Given the description of an element on the screen output the (x, y) to click on. 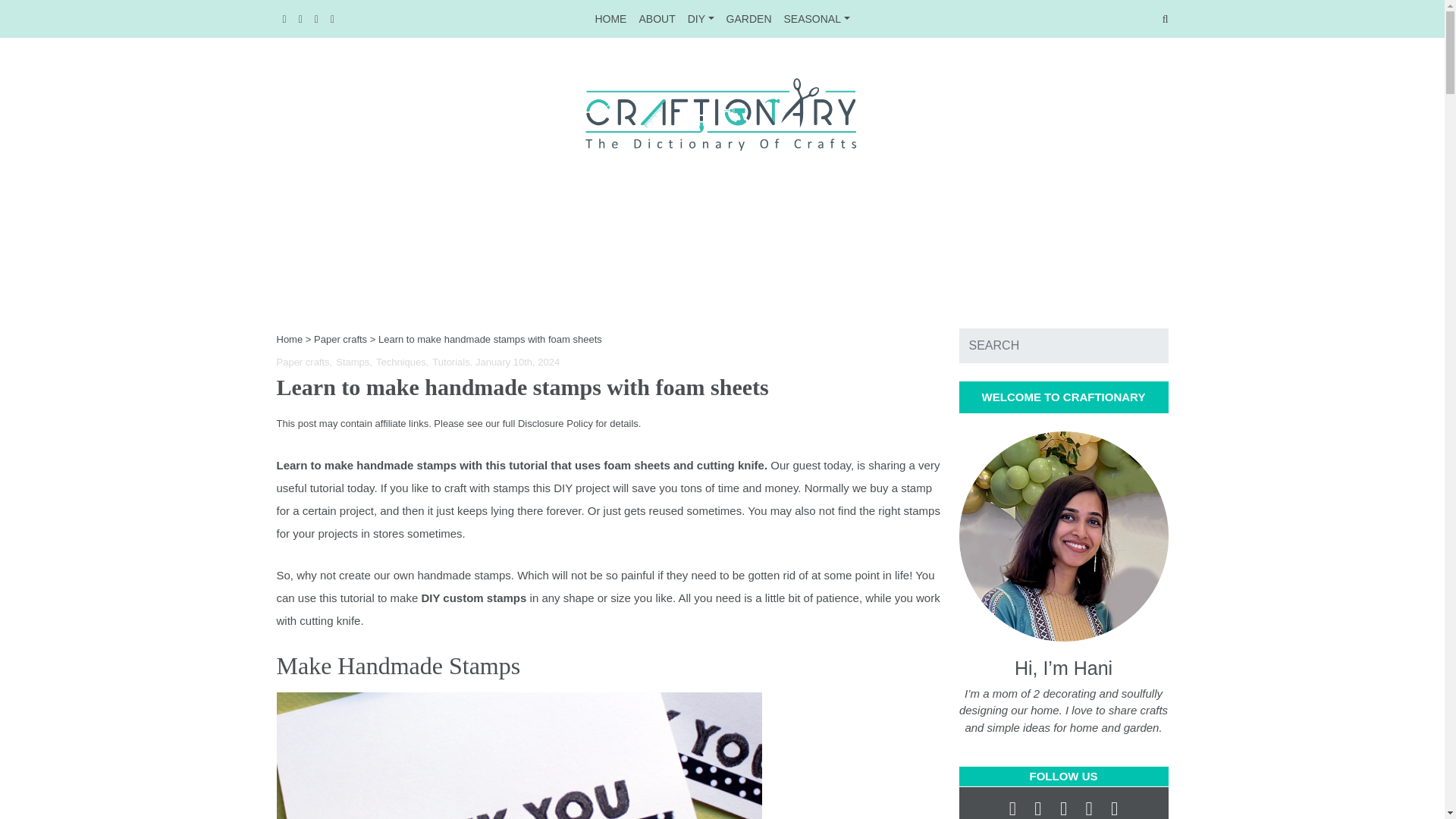
Paper crafts (340, 338)
Paper crafts (722, 18)
Techniques (303, 361)
Home (401, 361)
HOME (289, 338)
DIY (609, 18)
SEASONAL (700, 18)
GARDEN (816, 18)
Stamps (748, 18)
Tutorials (354, 361)
ABOUT (450, 361)
